Given the description of an element on the screen output the (x, y) to click on. 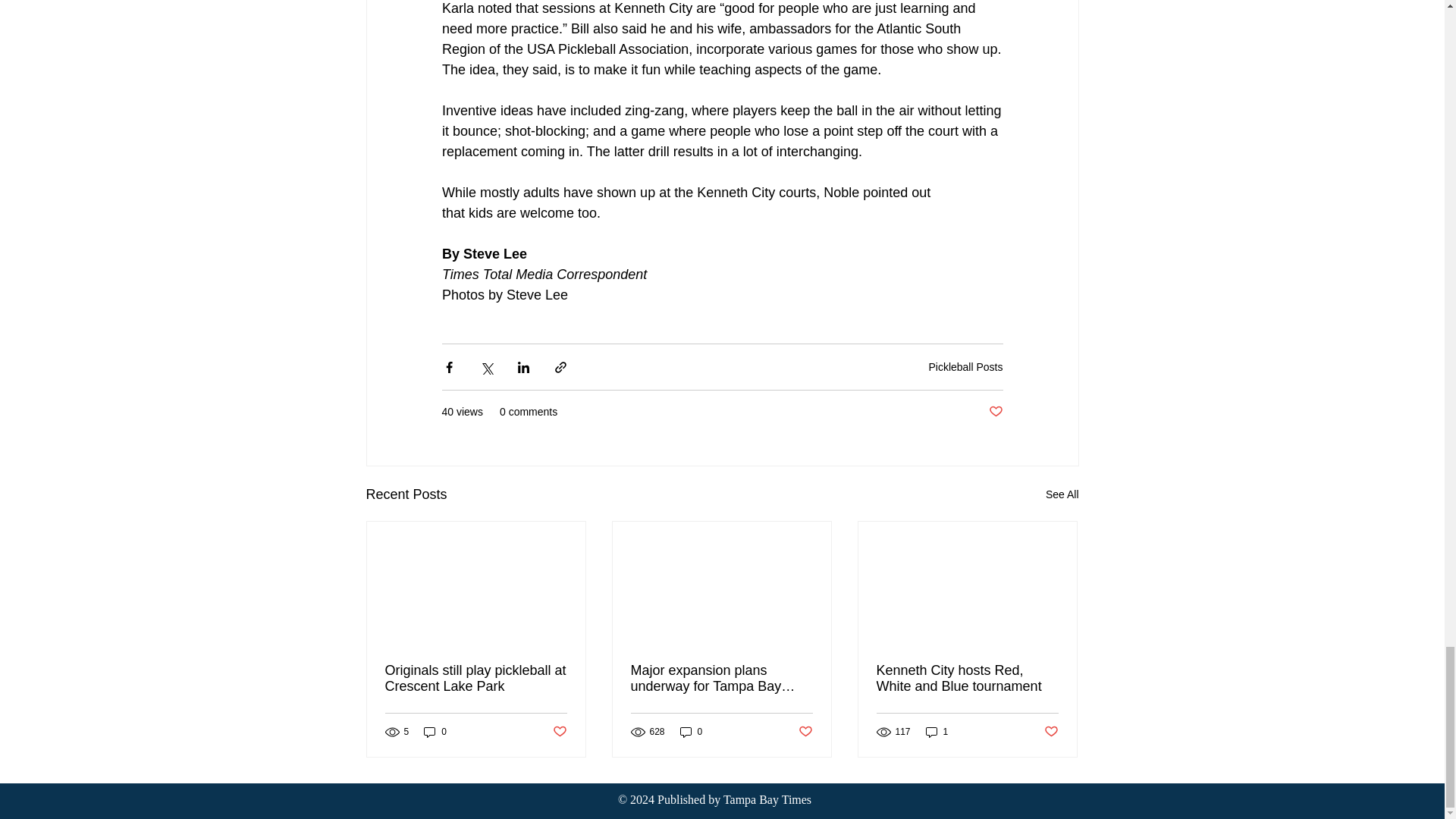
Kenneth City hosts Red, White and Blue tournament (967, 678)
Pickleball Posts (965, 367)
Originals still play pickleball at Crescent Lake Park (476, 678)
Post not marked as liked (804, 731)
0 (691, 731)
Post not marked as liked (995, 412)
Post not marked as liked (1050, 731)
0 (435, 731)
Post not marked as liked (558, 731)
1 (937, 731)
Major expansion plans underway for Tampa Bay Pickleball (721, 678)
See All (1061, 495)
